Given the description of an element on the screen output the (x, y) to click on. 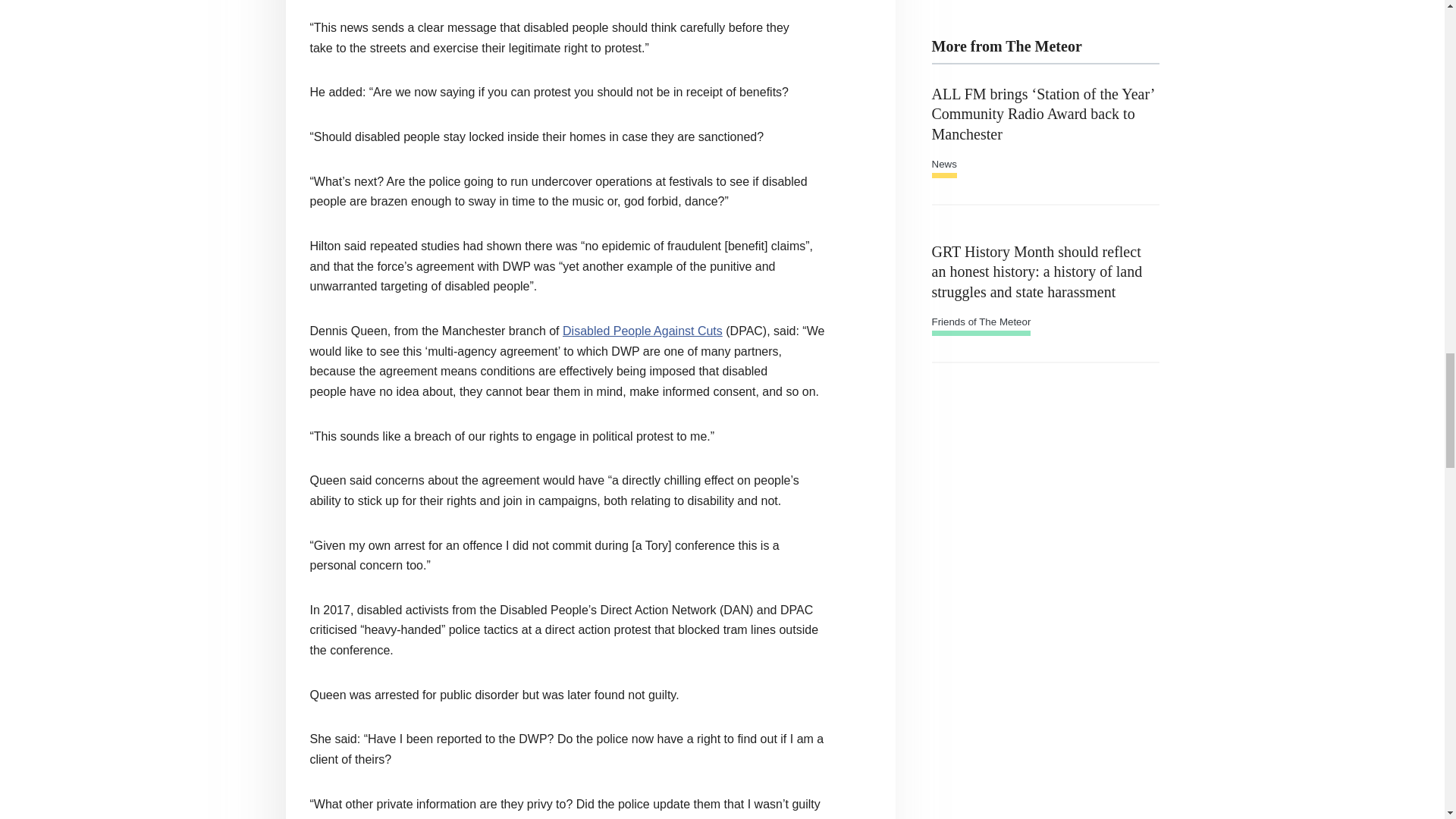
Disabled People Against Cuts (642, 330)
